Given the description of an element on the screen output the (x, y) to click on. 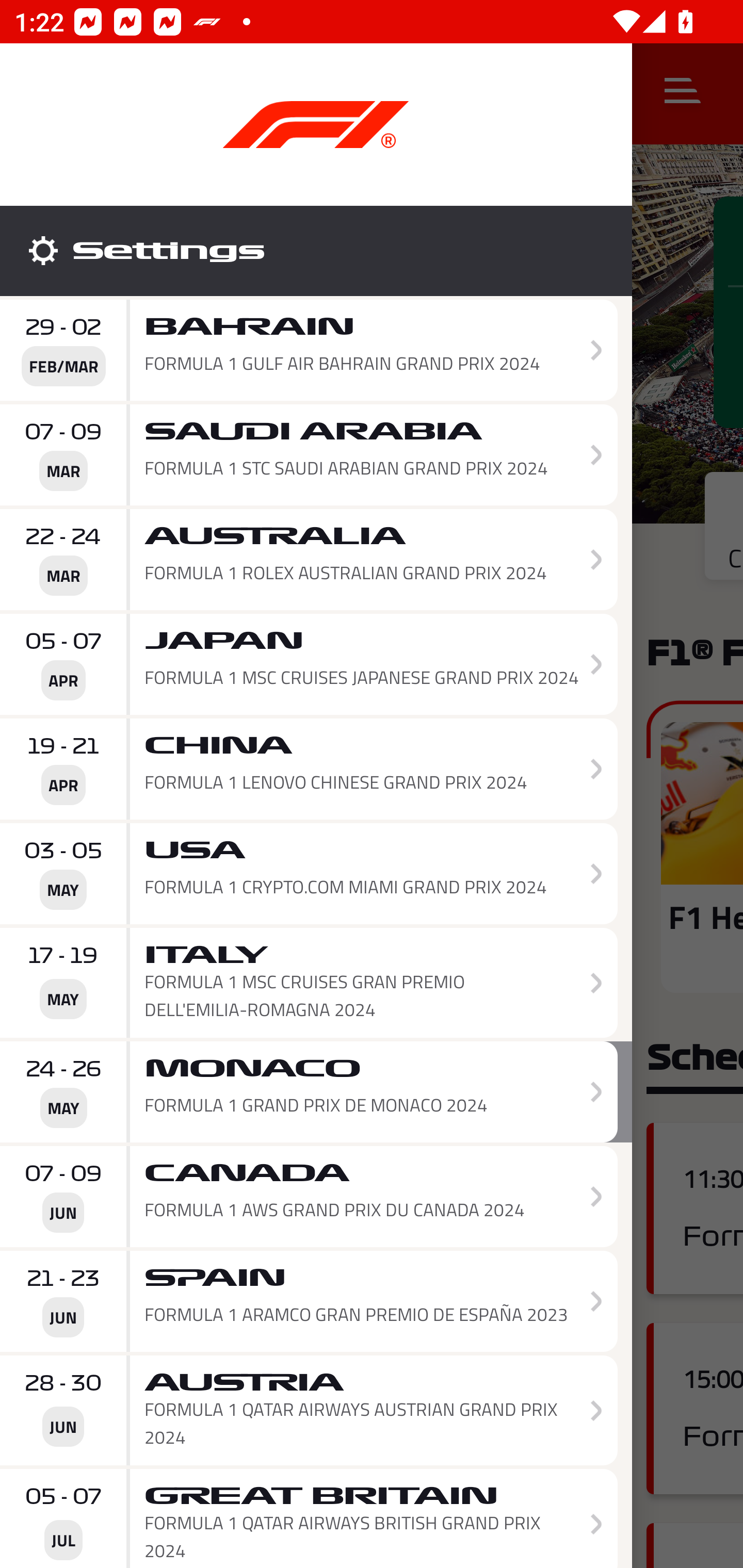
Settings (316, 250)
